Given the description of an element on the screen output the (x, y) to click on. 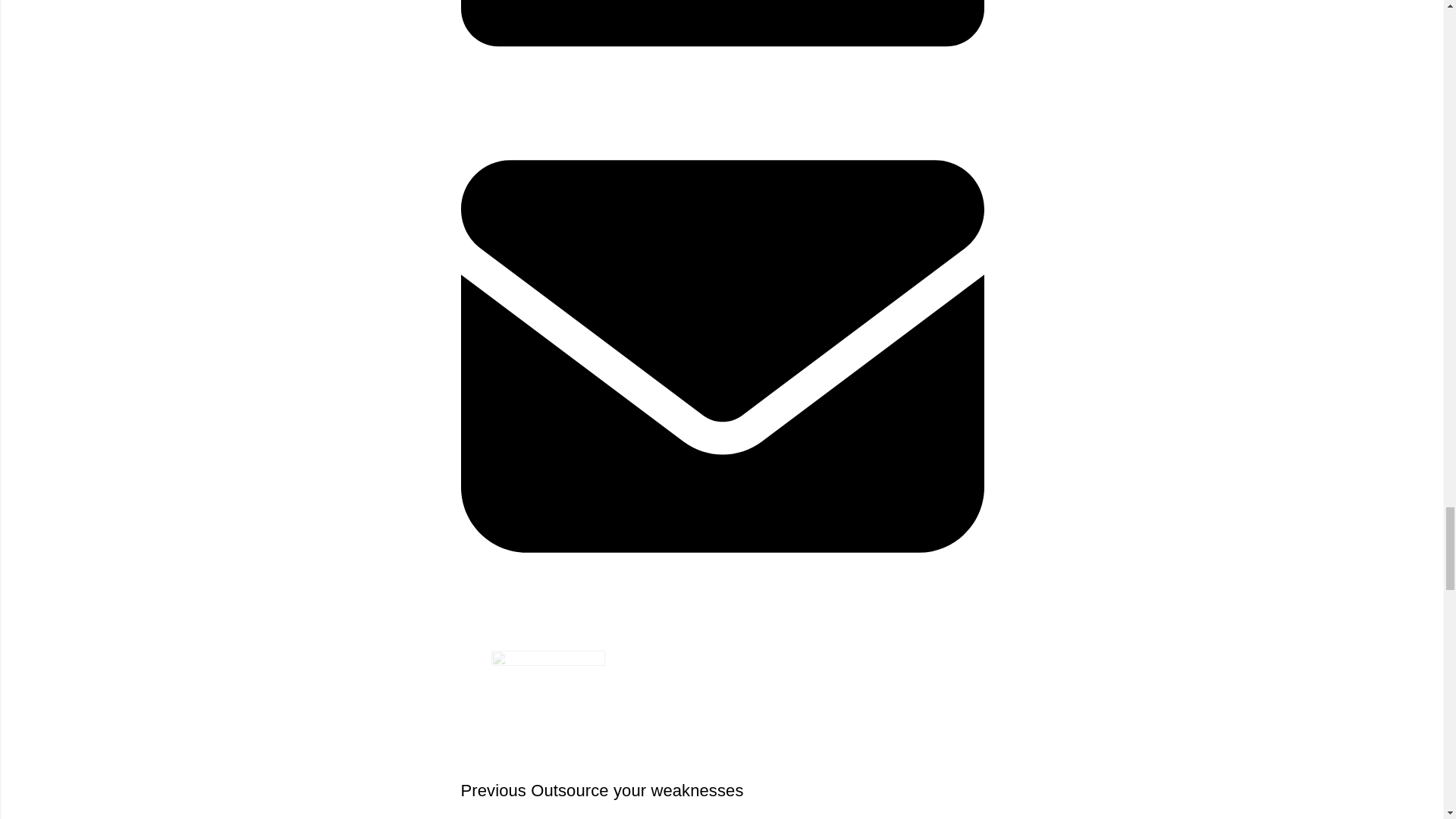
Share on Twitter (722, 43)
Previous Outsource your weaknesses (722, 725)
Share on Email (722, 710)
